Given the description of an element on the screen output the (x, y) to click on. 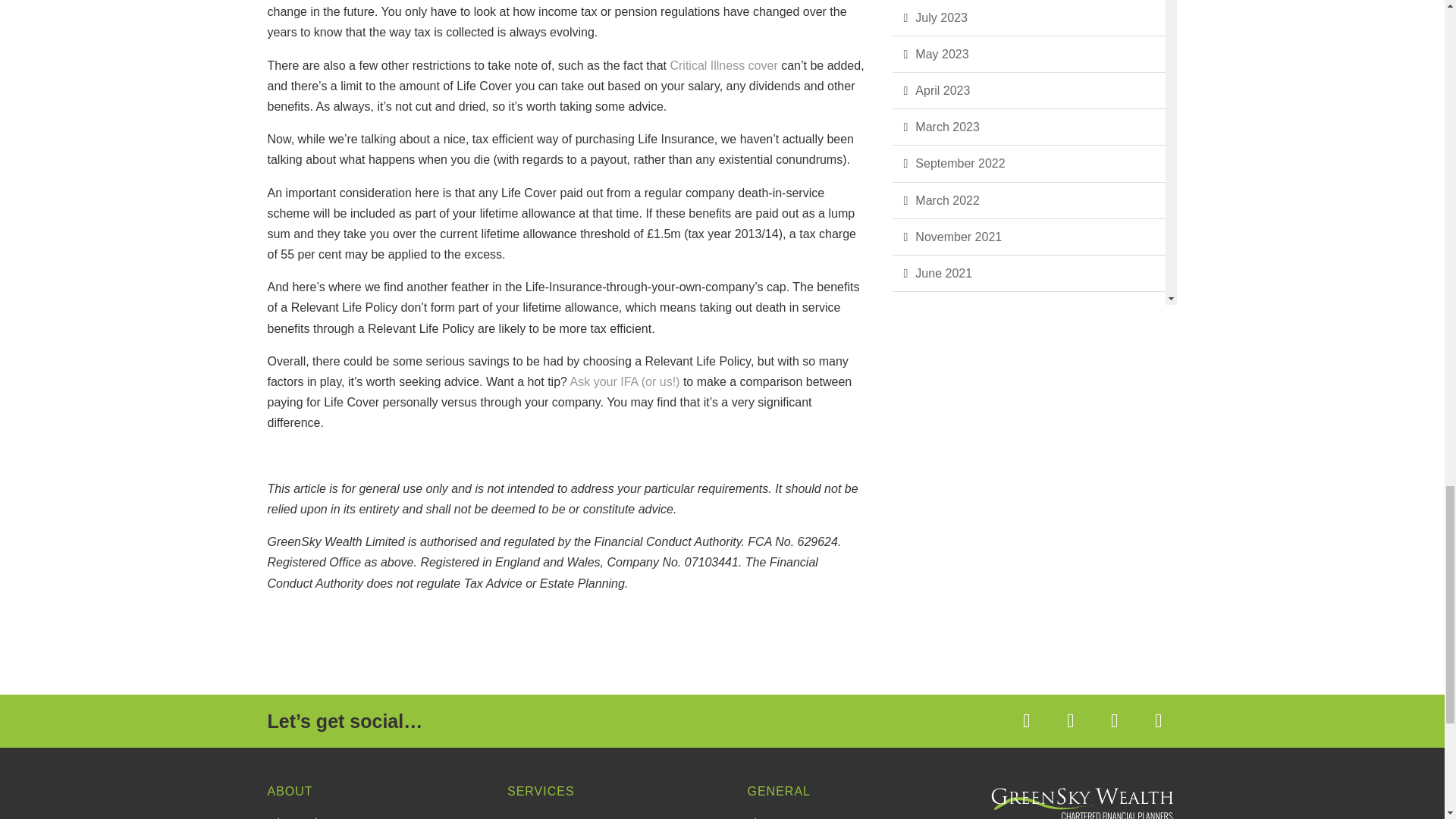
Contact us (624, 381)
Follow on Instagram (1157, 720)
Follow on LinkedIn (1113, 720)
Critical Illness cover (723, 65)
Is Critical Illness Cover critical? (723, 65)
Follow on Facebook (1026, 720)
Follow on X (1070, 720)
